Given the description of an element on the screen output the (x, y) to click on. 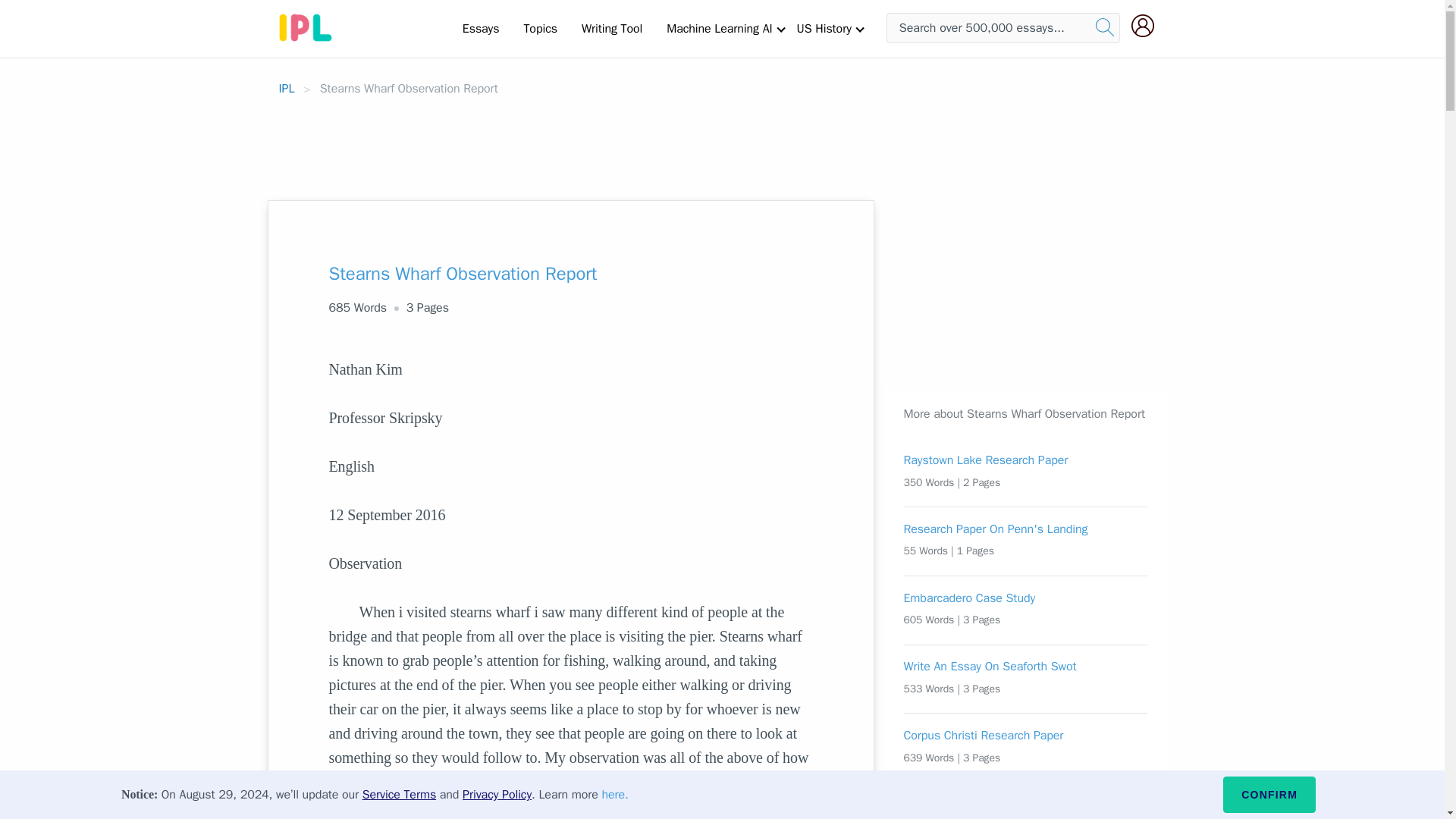
IPL (287, 88)
Writing Tool (611, 28)
Essays (480, 28)
Topics (540, 28)
Machine Learning AI (718, 28)
US History (823, 28)
